Given the description of an element on the screen output the (x, y) to click on. 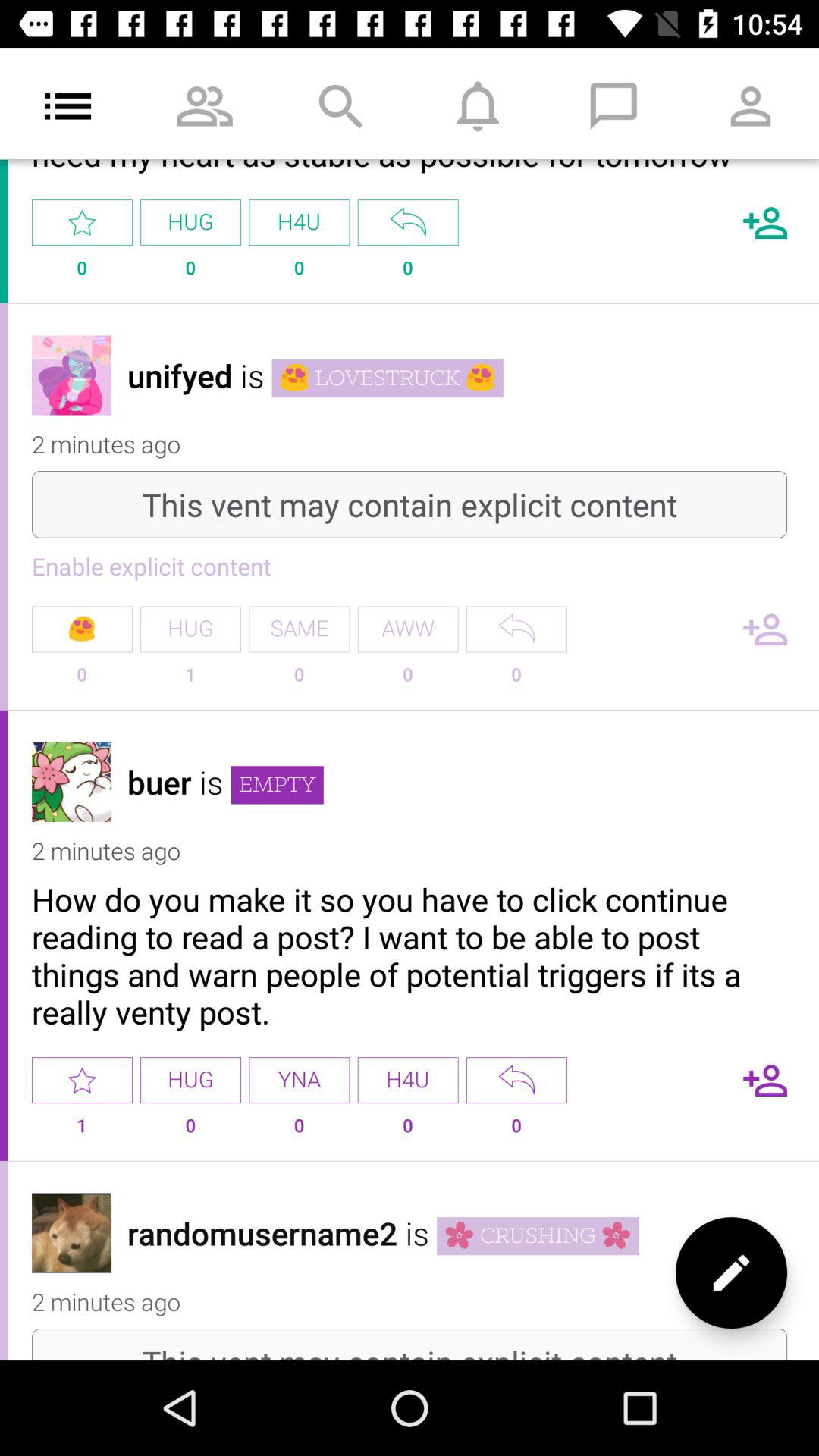
reply button (516, 629)
